Given the description of an element on the screen output the (x, y) to click on. 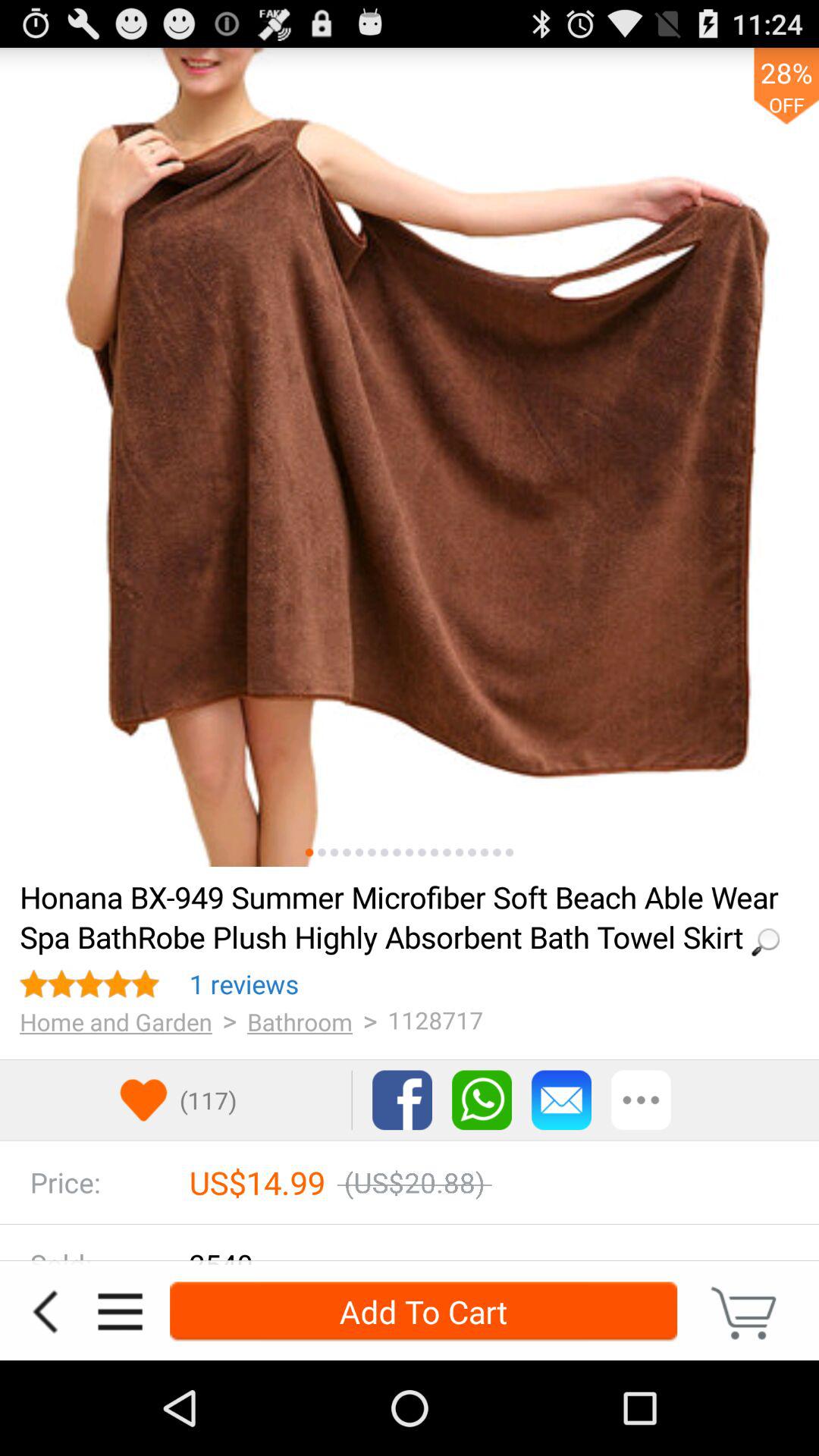
launch home and garden icon (115, 1021)
